Given the description of an element on the screen output the (x, y) to click on. 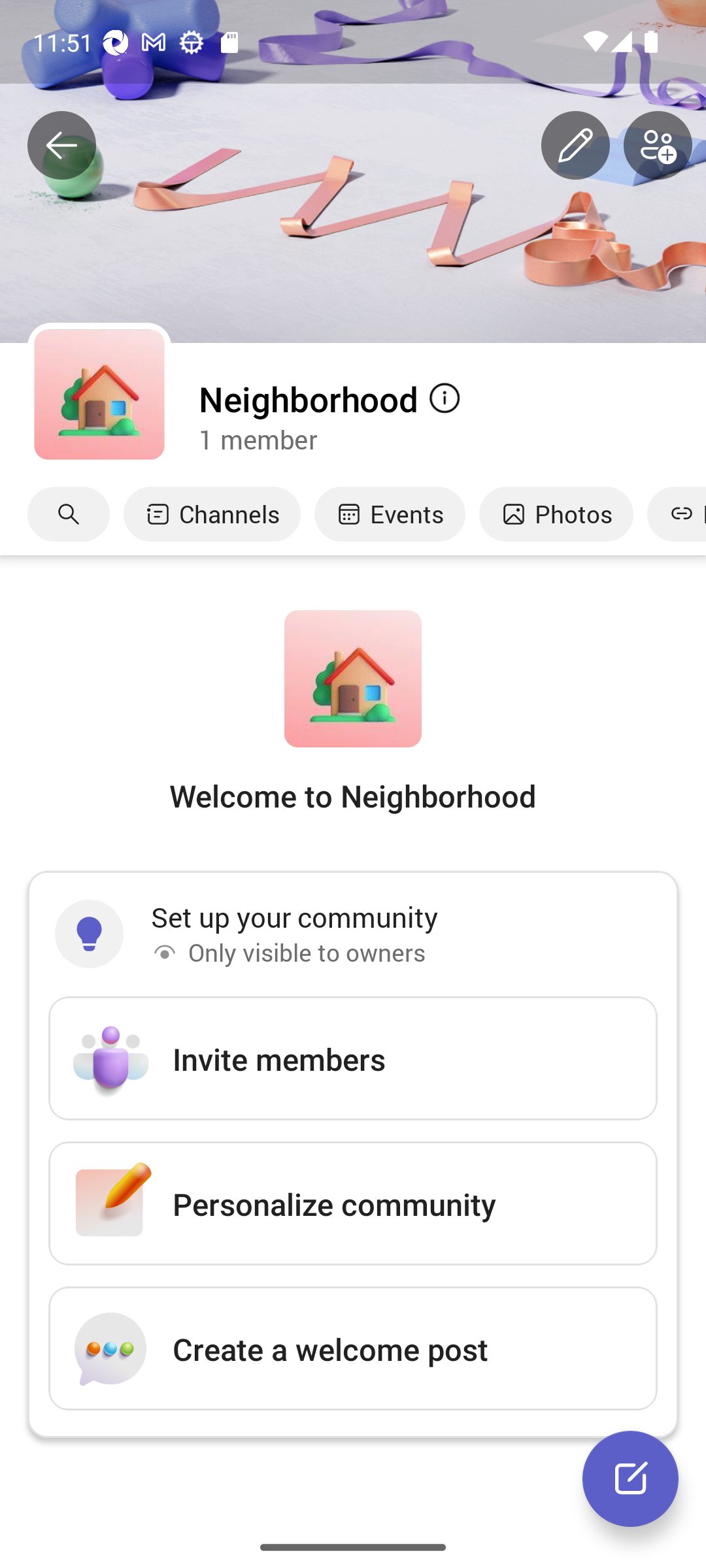
Back (61, 145)
Edit banner image (575, 145)
Add members (657, 145)
Neighborhood 1 member (450, 416)
Search tab, 1 of 6 (68, 513)
Channels tab, 2 of 6 Channels (211, 513)
Events tab, 3 of 6 Events (389, 513)
Photos tab, 4 of 6 Photos (556, 513)
Invite members (352, 1058)
Personalize community (352, 1203)
Create a welcome post (352, 1348)
New conversation (630, 1478)
